Given the description of an element on the screen output the (x, y) to click on. 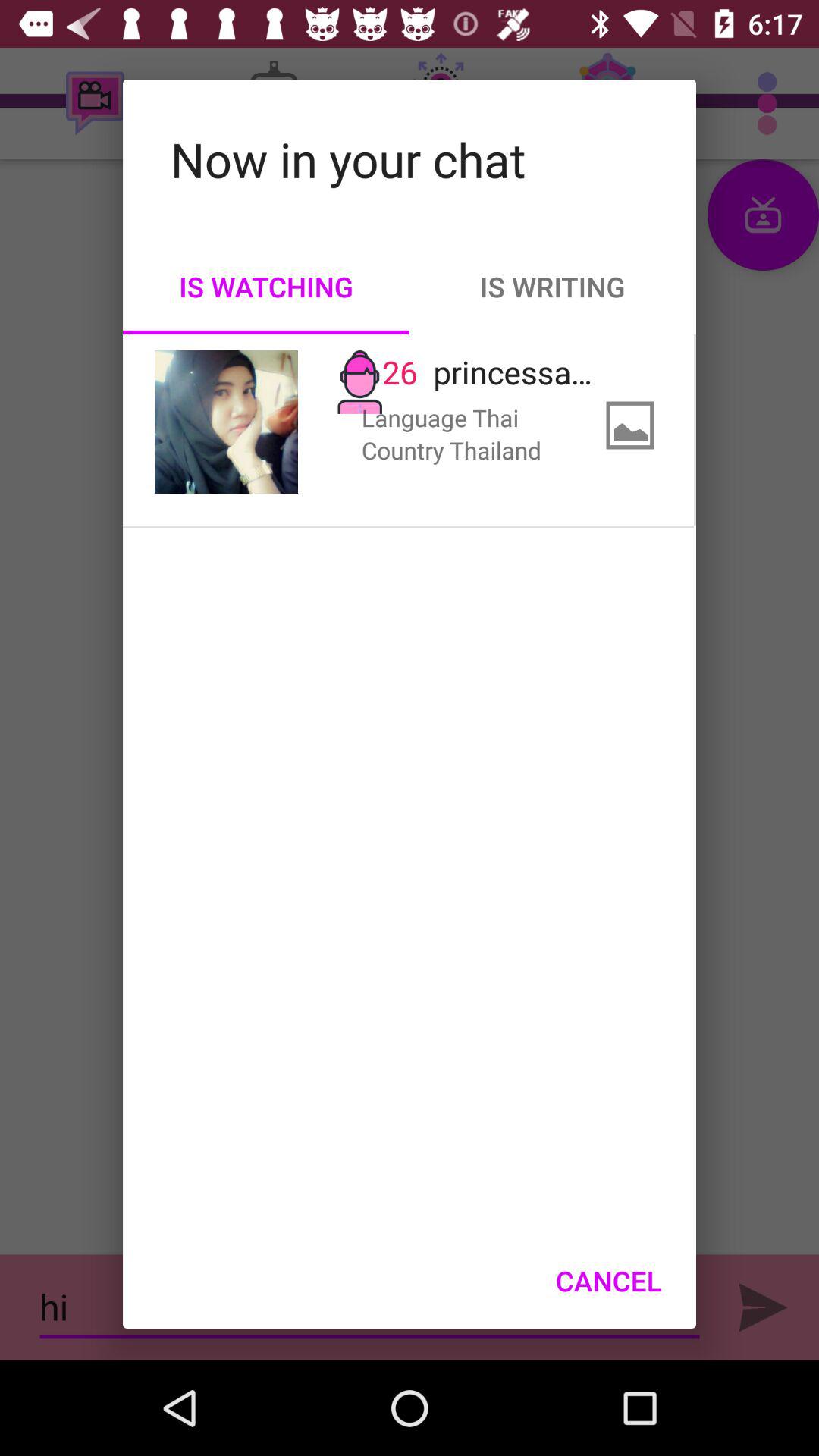
launch item to the left of 26 item (226, 421)
